Given the description of an element on the screen output the (x, y) to click on. 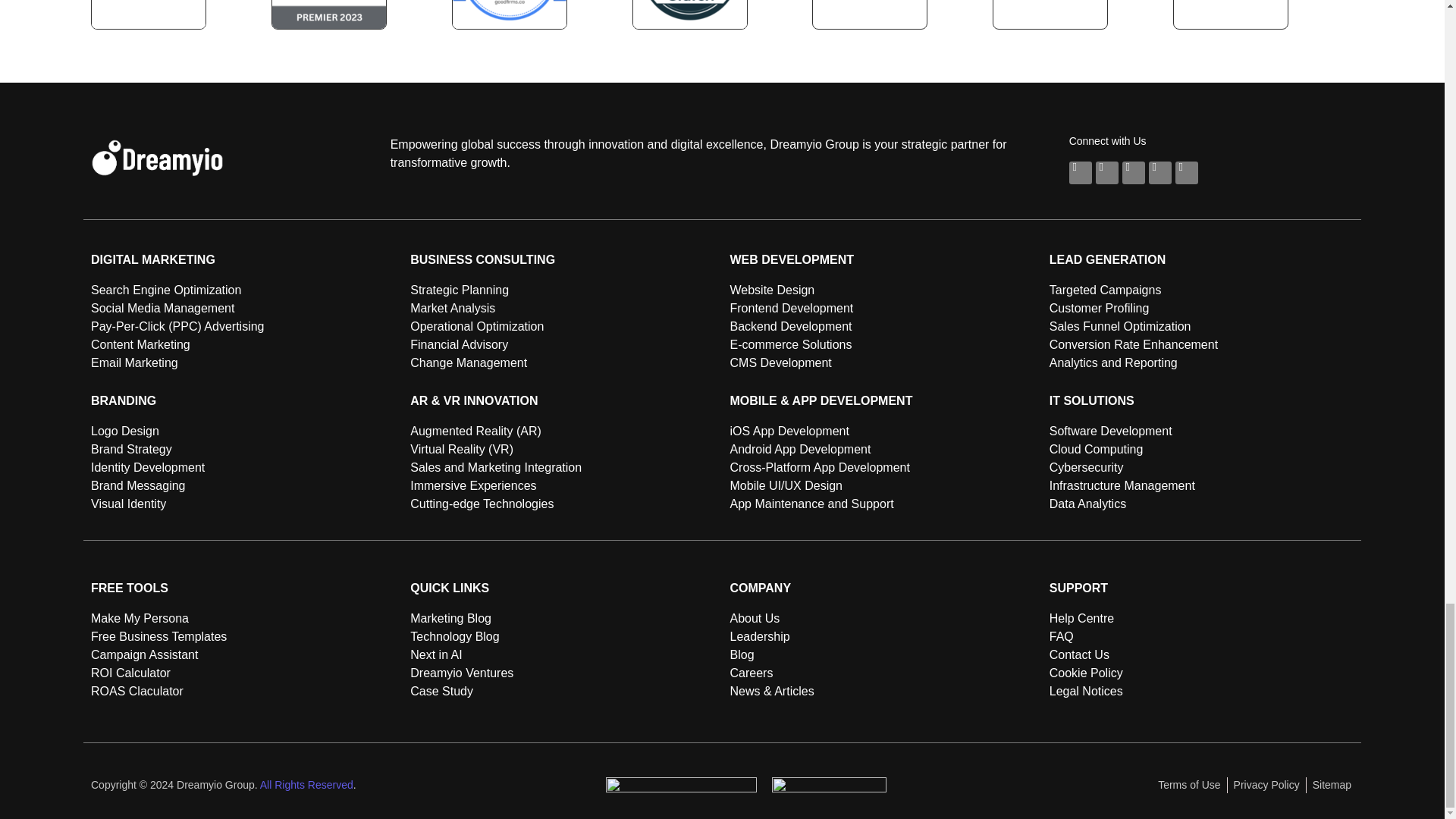
Terms of Use (1188, 785)
About Us (881, 618)
FAQ (1201, 637)
Privacy Policy (1266, 785)
Strategic Planning (562, 290)
Legal Notices (1201, 691)
Social Media Management (242, 308)
Search Engine Optimization (242, 290)
Content Marketing (242, 344)
Email Marketing (242, 362)
